Given the description of an element on the screen output the (x, y) to click on. 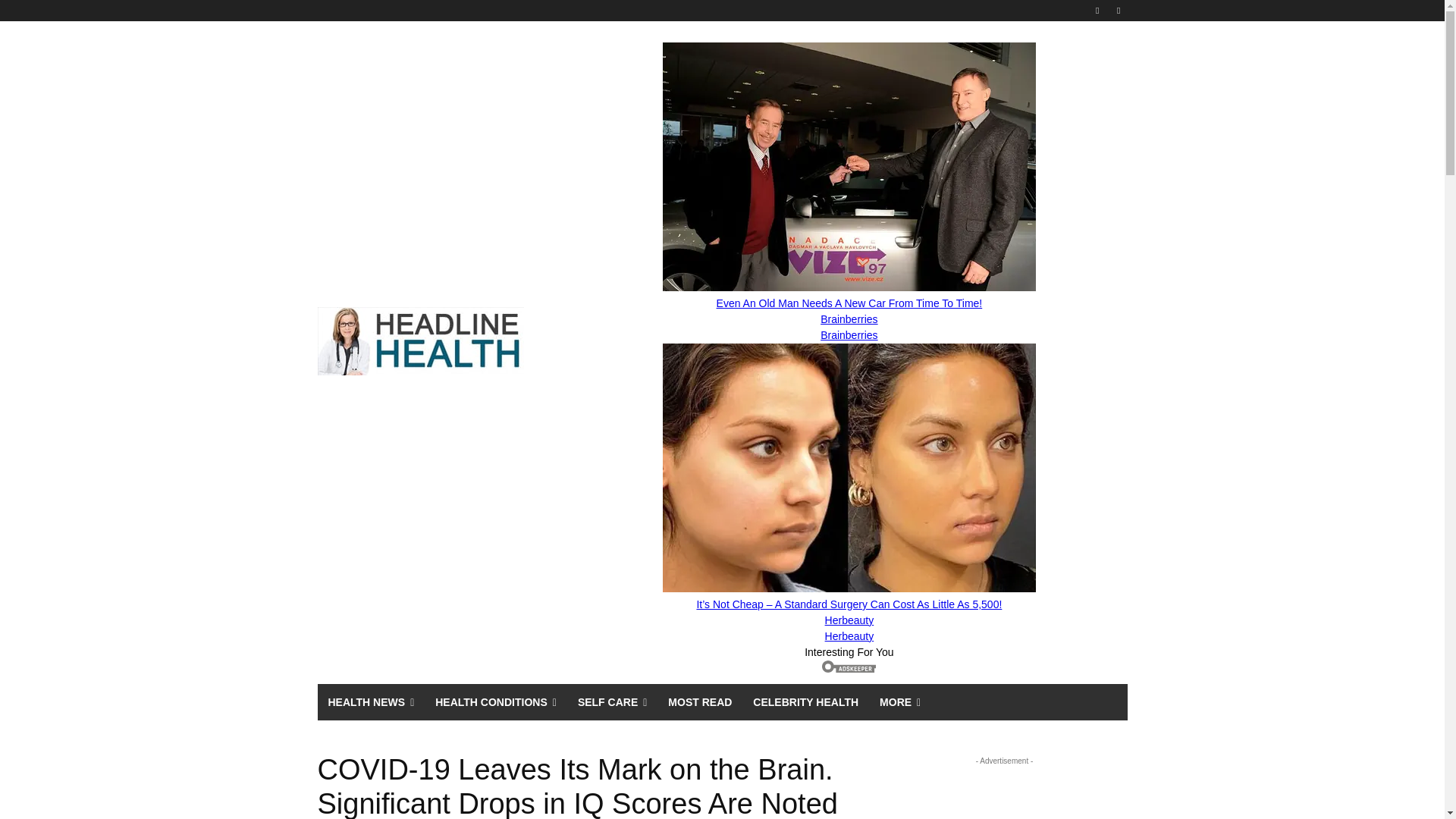
Twitter (1117, 9)
Facebook (1097, 9)
Advertisement (1003, 794)
